Given the description of an element on the screen output the (x, y) to click on. 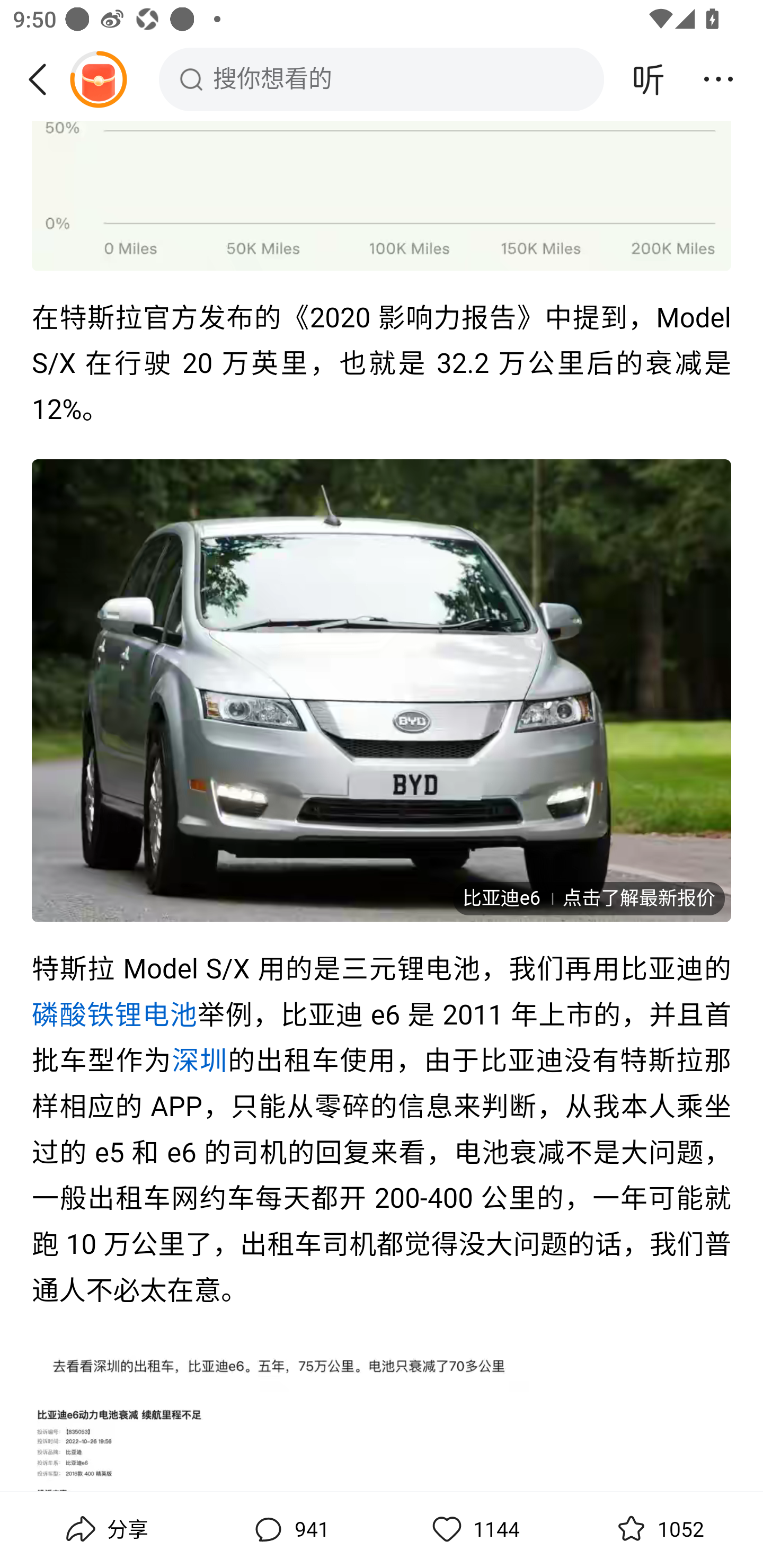
返回 (44, 78)
听头条 (648, 78)
更多操作 (718, 78)
搜你想看的 搜索框，搜你想看的 (381, 79)
阅读赚金币 (98, 79)
图片，点击识别内容 (381, 197)
比亚迪e6  点击了解最新报价 比亚迪e6点击了解最新报价 (381, 691)
比亚迪e6点击了解最新报价 (587, 899)
图片，点击识别内容 (381, 1367)
图片，点击识别内容 (381, 1447)
分享 (104, 1529)
评论,941 941 (288, 1529)
收藏,1052 1052 (658, 1529)
